Given the description of an element on the screen output the (x, y) to click on. 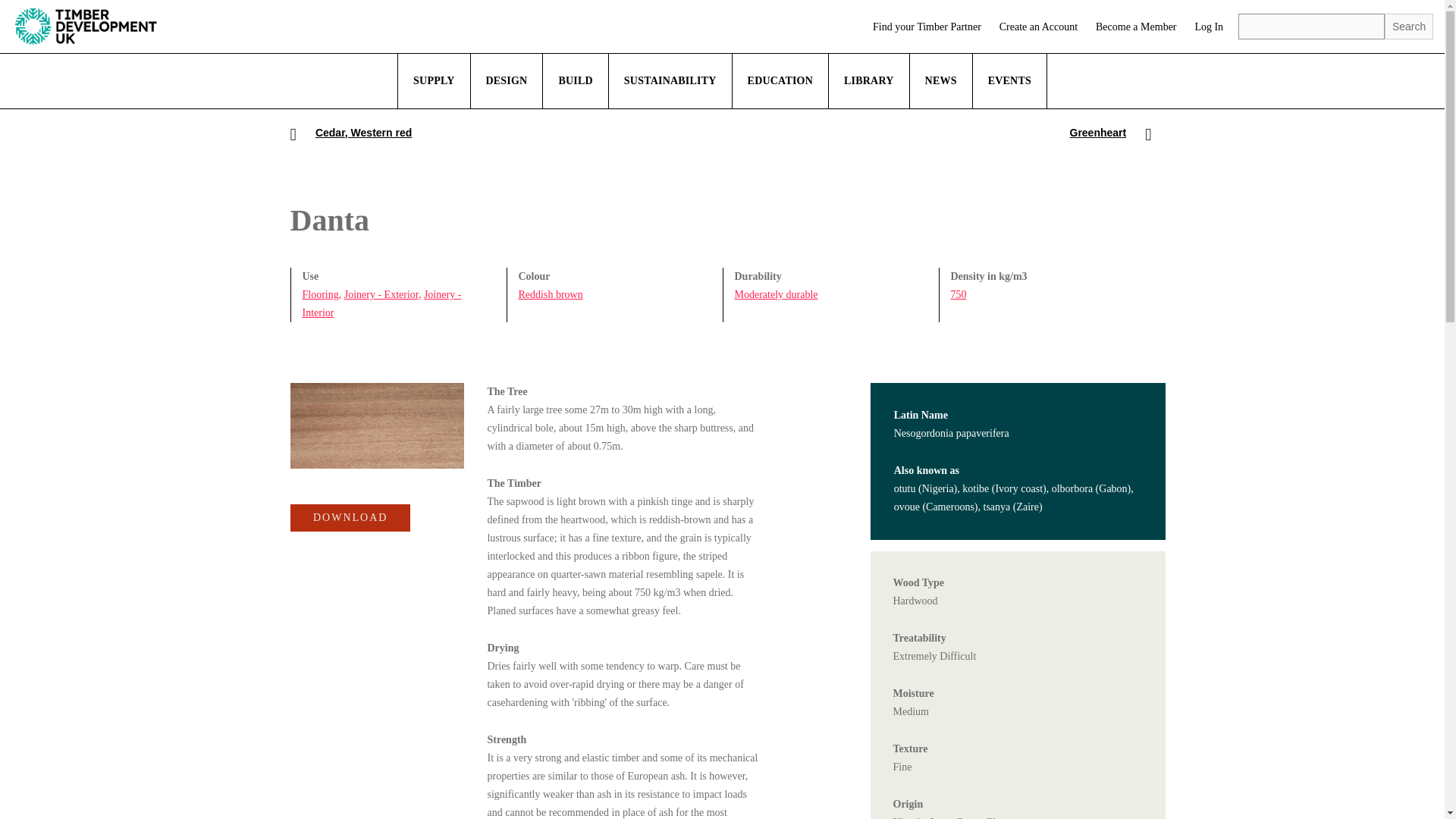
Timber Development UK (85, 26)
EDUCATION (780, 81)
Search (1408, 26)
SUSTAINABILITY (670, 81)
Find your Timber Partner (926, 26)
Become a Member (1136, 26)
Log In (1208, 26)
LIBRARY (868, 81)
Create an Account (1037, 26)
